Given the description of an element on the screen output the (x, y) to click on. 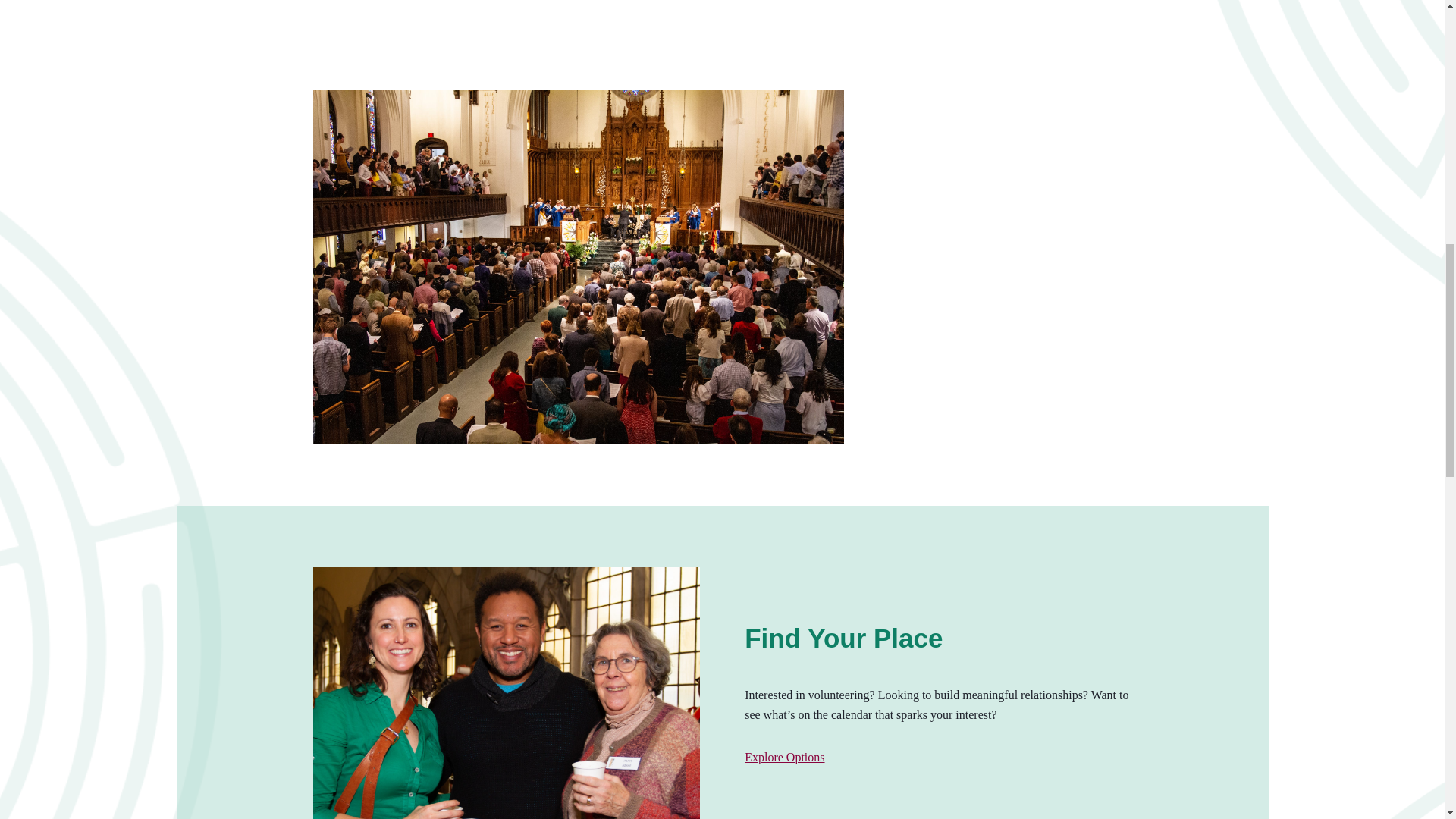
FindYourPlaceCTA (505, 693)
